Given the description of an element on the screen output the (x, y) to click on. 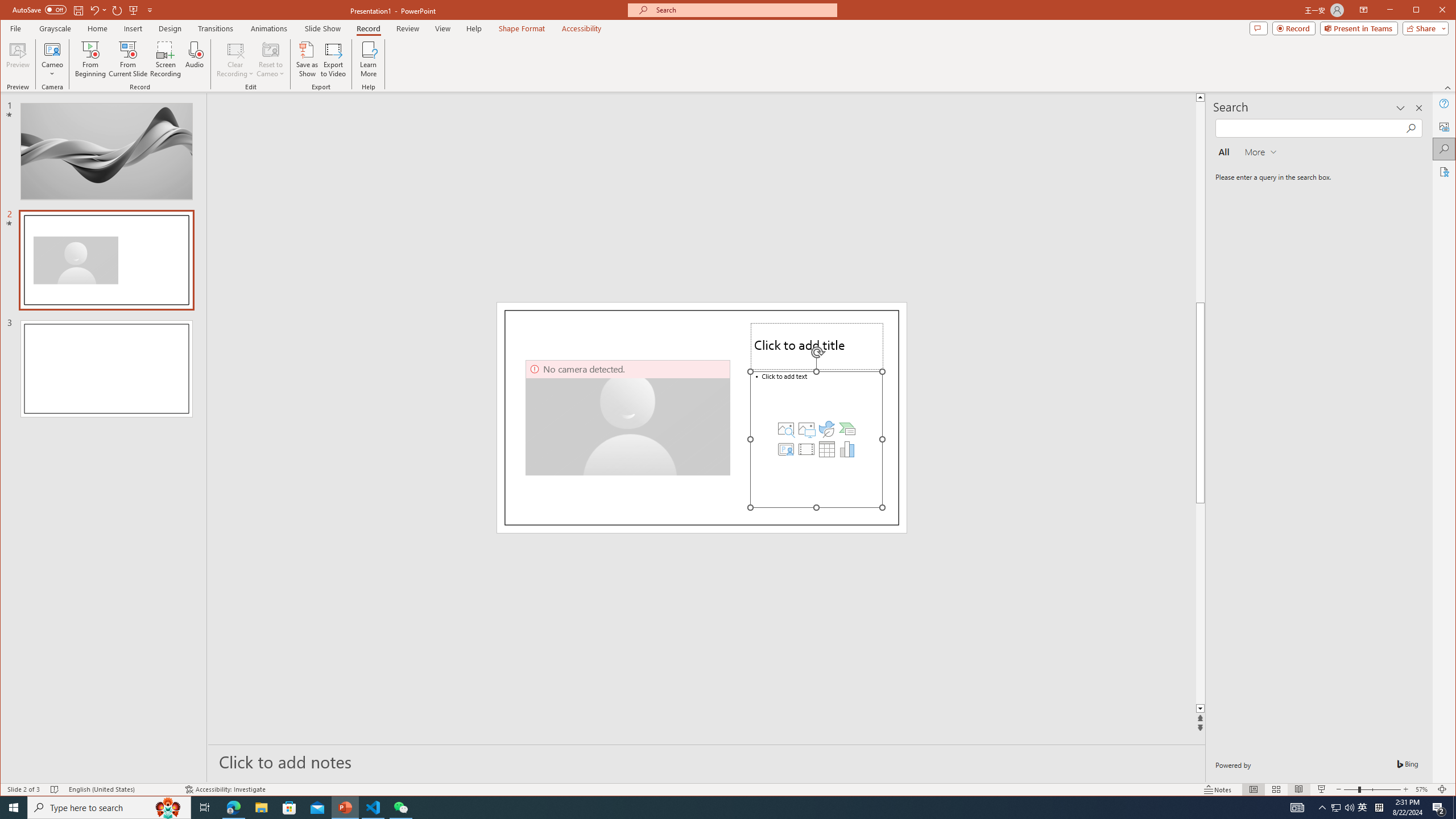
Start (13, 807)
Task View (204, 807)
Tray Input Indicator - Chinese (Simplified, China) (1378, 807)
Audio (194, 59)
Notification Chevron (1322, 807)
